Given the description of an element on the screen output the (x, y) to click on. 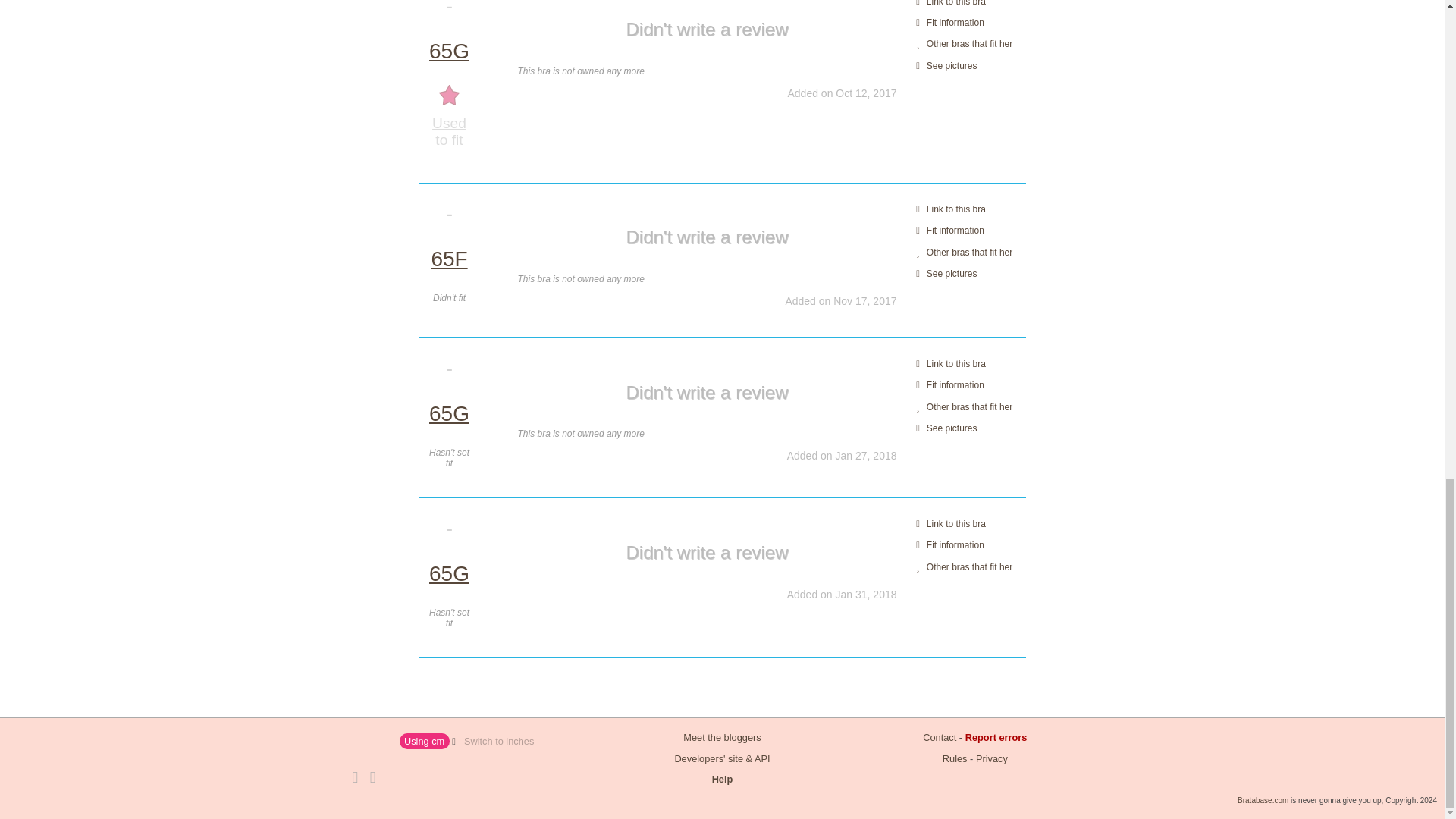
Switch to inches (498, 741)
